Given the description of an element on the screen output the (x, y) to click on. 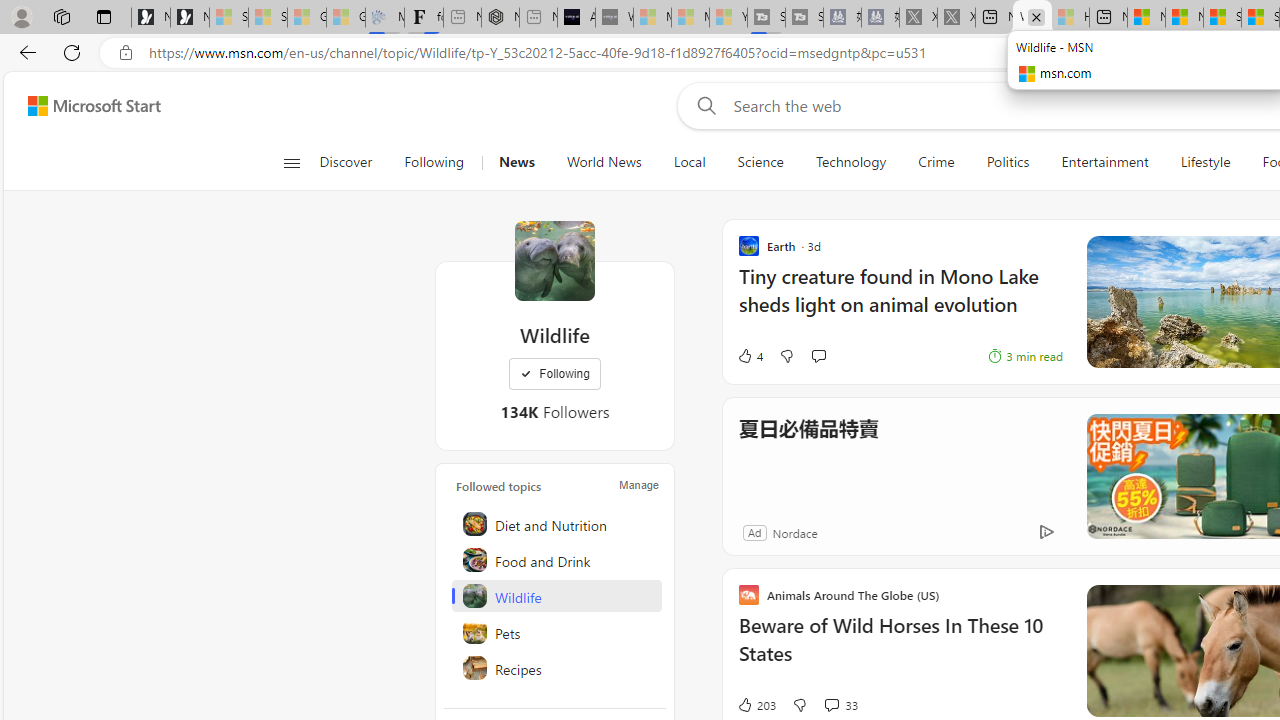
What's the best AI voice generator? - voice.ai - Sleeping (614, 17)
Science (760, 162)
Microsoft Start - Sleeping (690, 17)
Politics (1007, 162)
Food and Drink (556, 560)
Local (688, 162)
World News (603, 162)
Skip to content (86, 105)
